Given the description of an element on the screen output the (x, y) to click on. 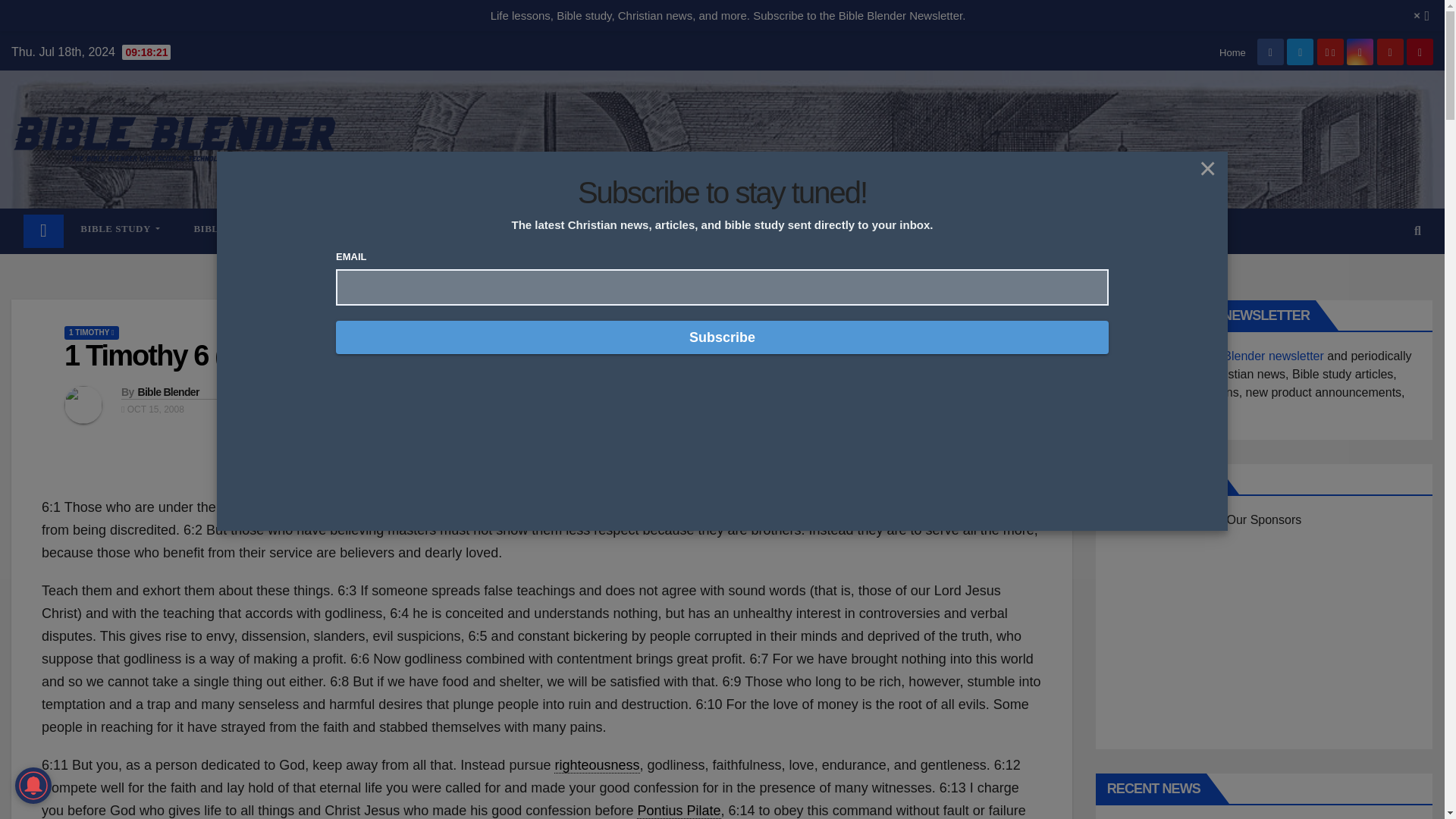
Home (1233, 52)
Home (43, 231)
Bible Study (120, 228)
Subscribe (722, 337)
BIBLE STUDY (120, 228)
